Given the description of an element on the screen output the (x, y) to click on. 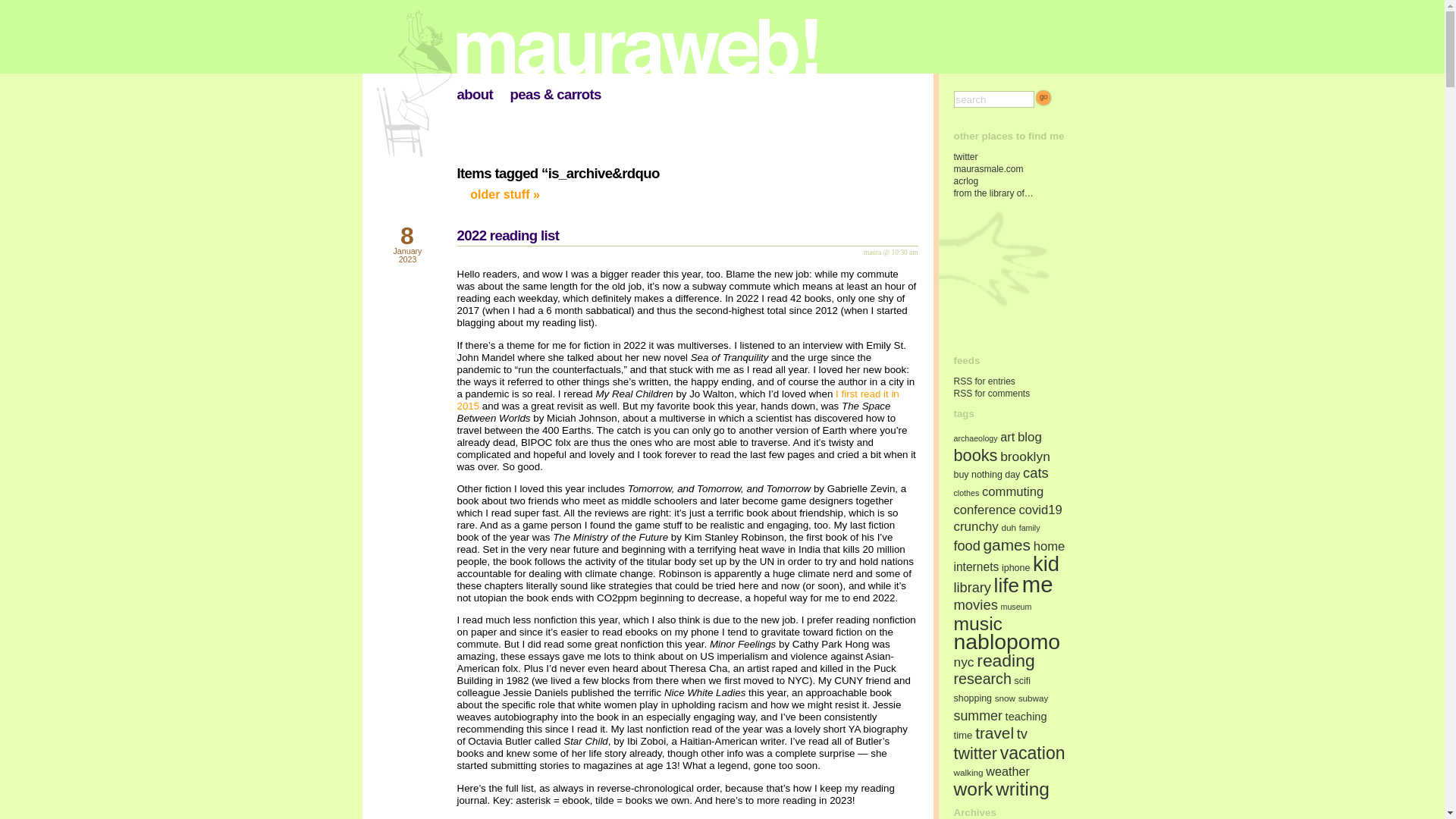
search (993, 98)
I first read it in 2015 (677, 399)
mauraweb! (597, 36)
search (993, 98)
2022 reading list (508, 235)
about (474, 94)
